Given the description of an element on the screen output the (x, y) to click on. 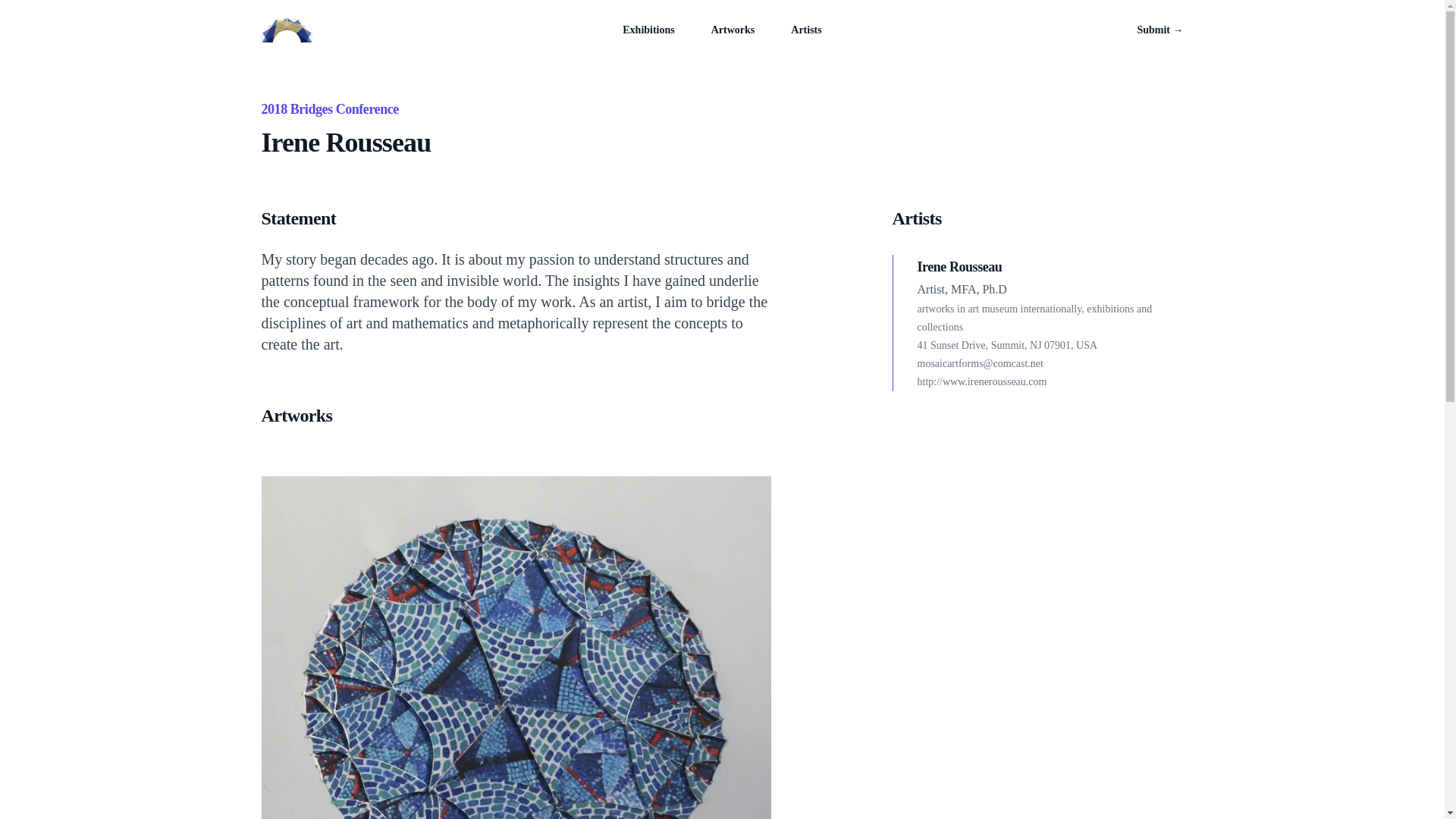
2018 Bridges Conference (328, 109)
Artworks (733, 30)
Mathematical Art Galleries (285, 29)
Exhibitions (648, 30)
Artists (805, 30)
